Given the description of an element on the screen output the (x, y) to click on. 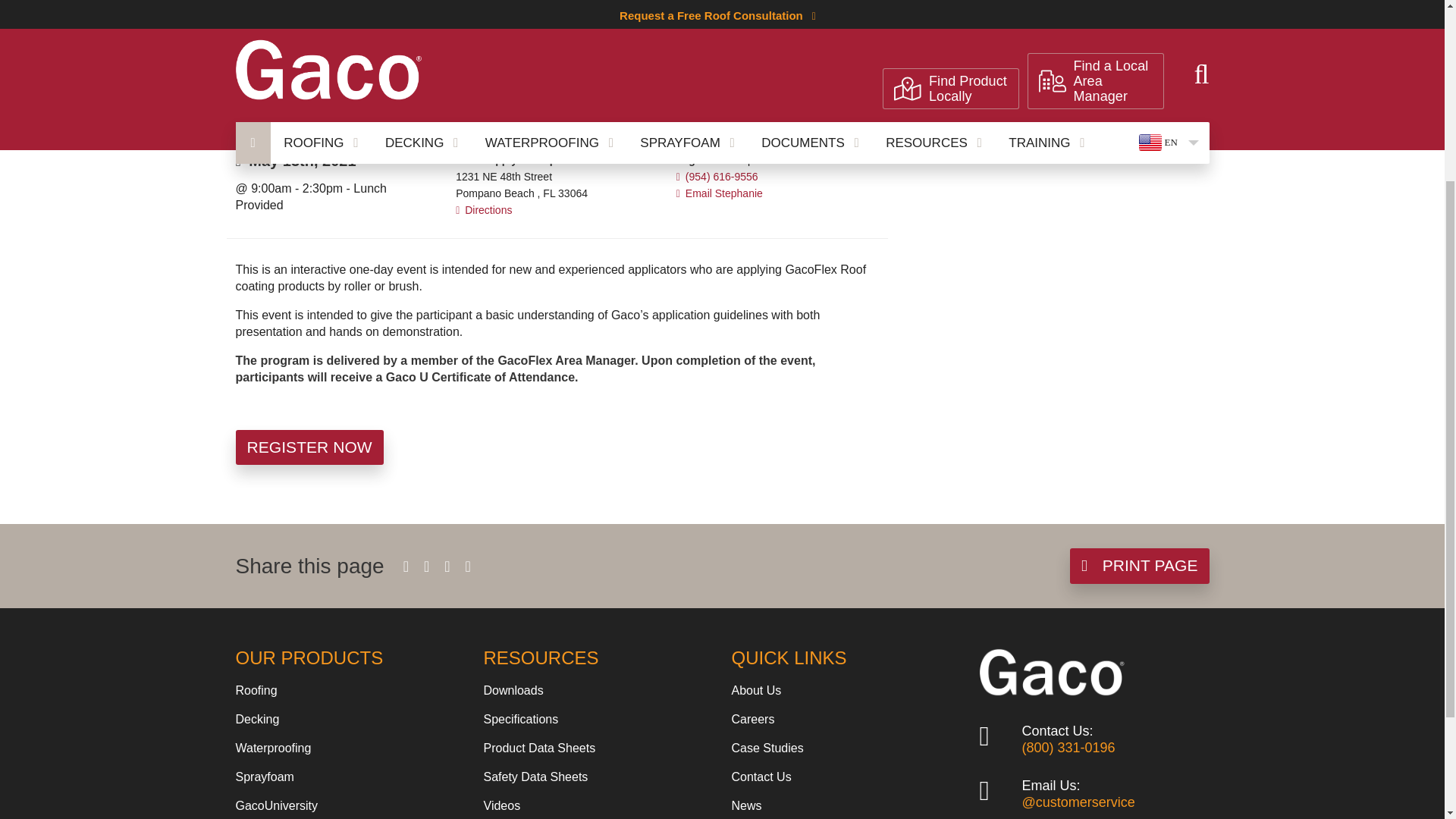
Roof Coatings Level 1 Pre-Licensing Event (511, 63)
